Given the description of an element on the screen output the (x, y) to click on. 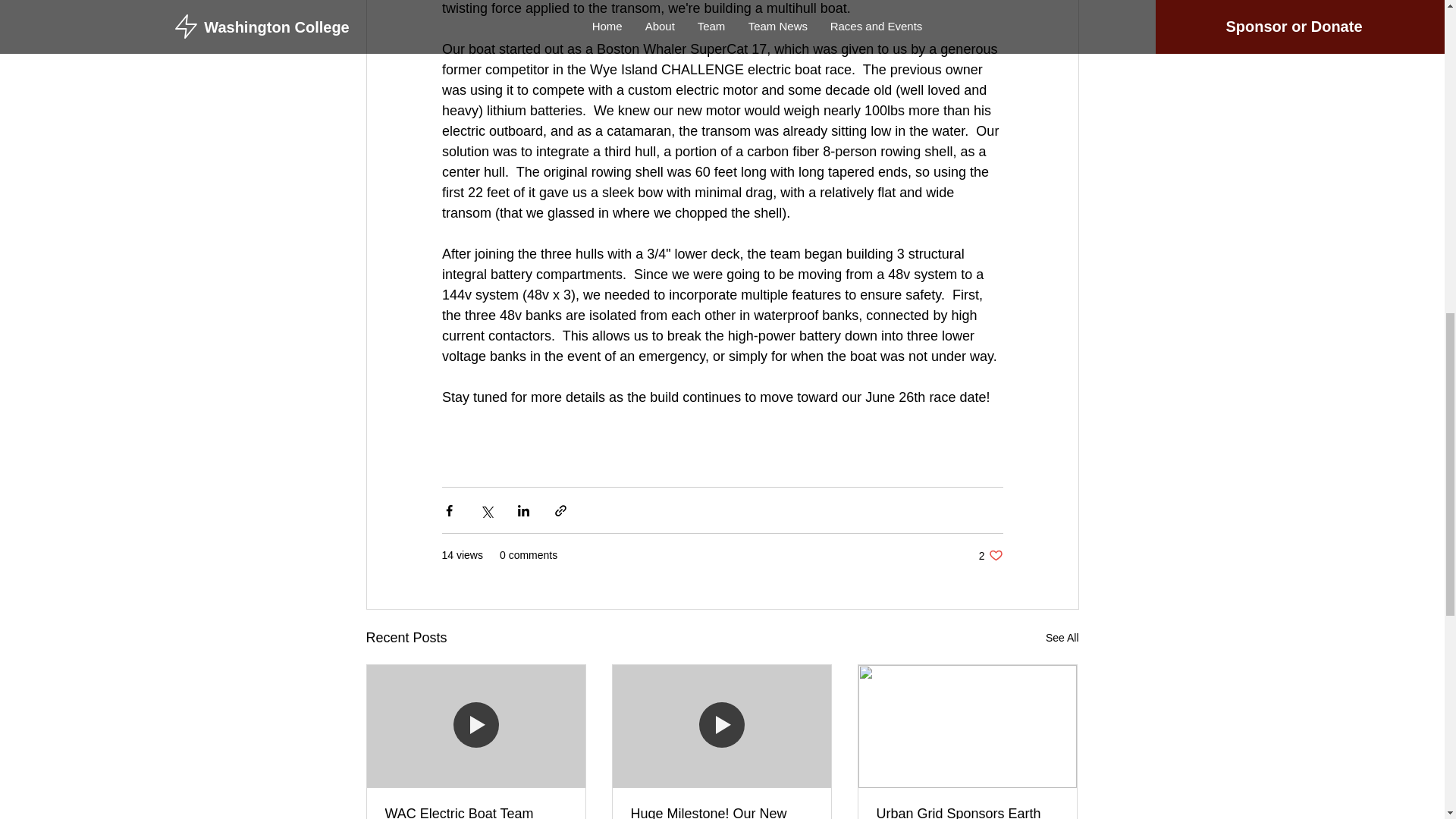
Urban Grid Sponsors Earth Day eRegatta (967, 812)
WAC Electric Boat Team takes 2nd and 4th place at PEP'23! (476, 812)
Huge Milestone! Our New Electric Boat is Fully Functional! (721, 812)
See All (990, 554)
